Given the description of an element on the screen output the (x, y) to click on. 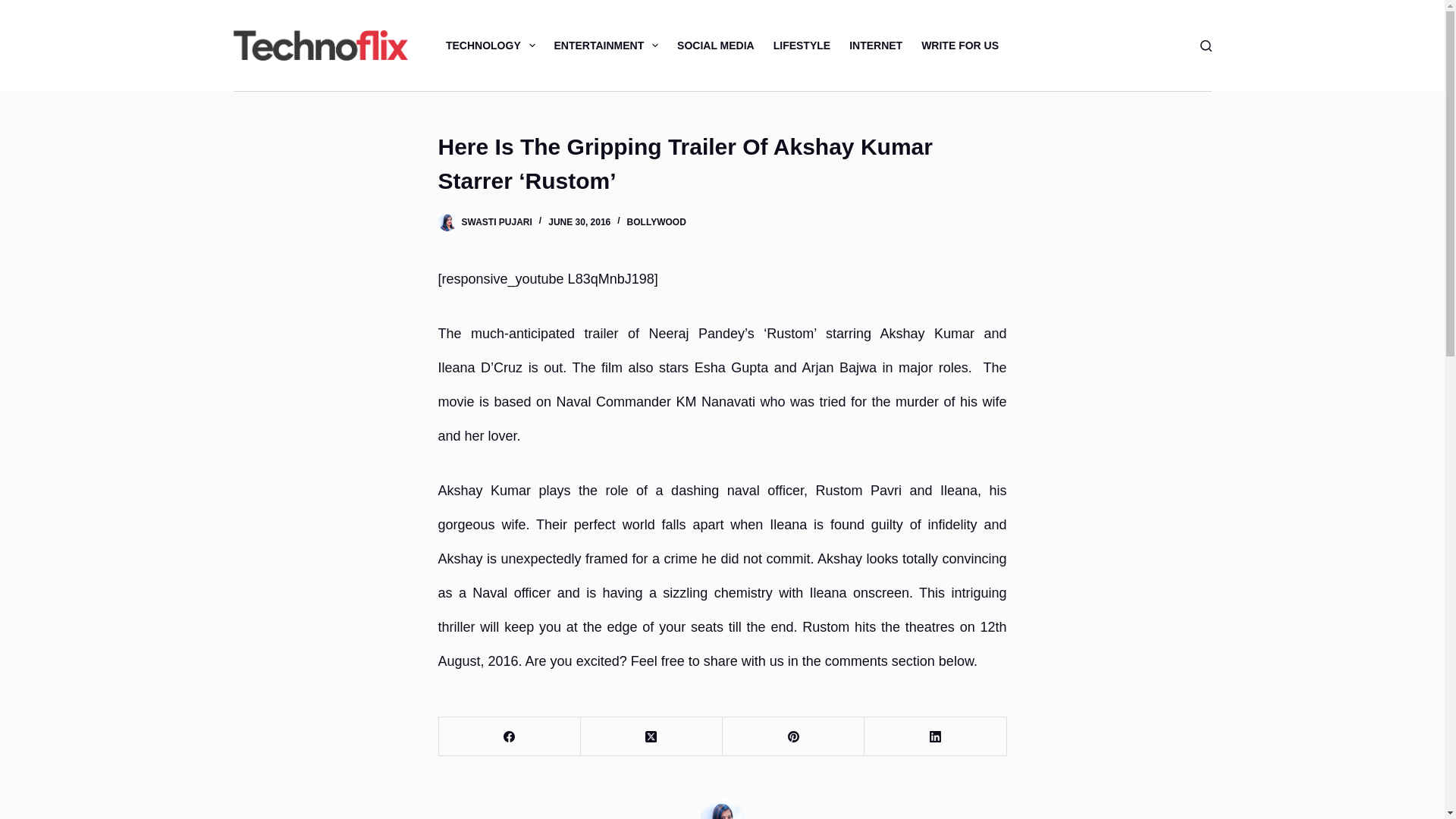
WRITE FOR US (960, 45)
Skip to content (15, 7)
BOLLYWOOD (656, 222)
Posts by Swasti Pujari (496, 222)
ENTERTAINMENT (606, 45)
SOCIAL MEDIA (716, 45)
SWASTI PUJARI (496, 222)
TECHNOLOGY (489, 45)
